Given the description of an element on the screen output the (x, y) to click on. 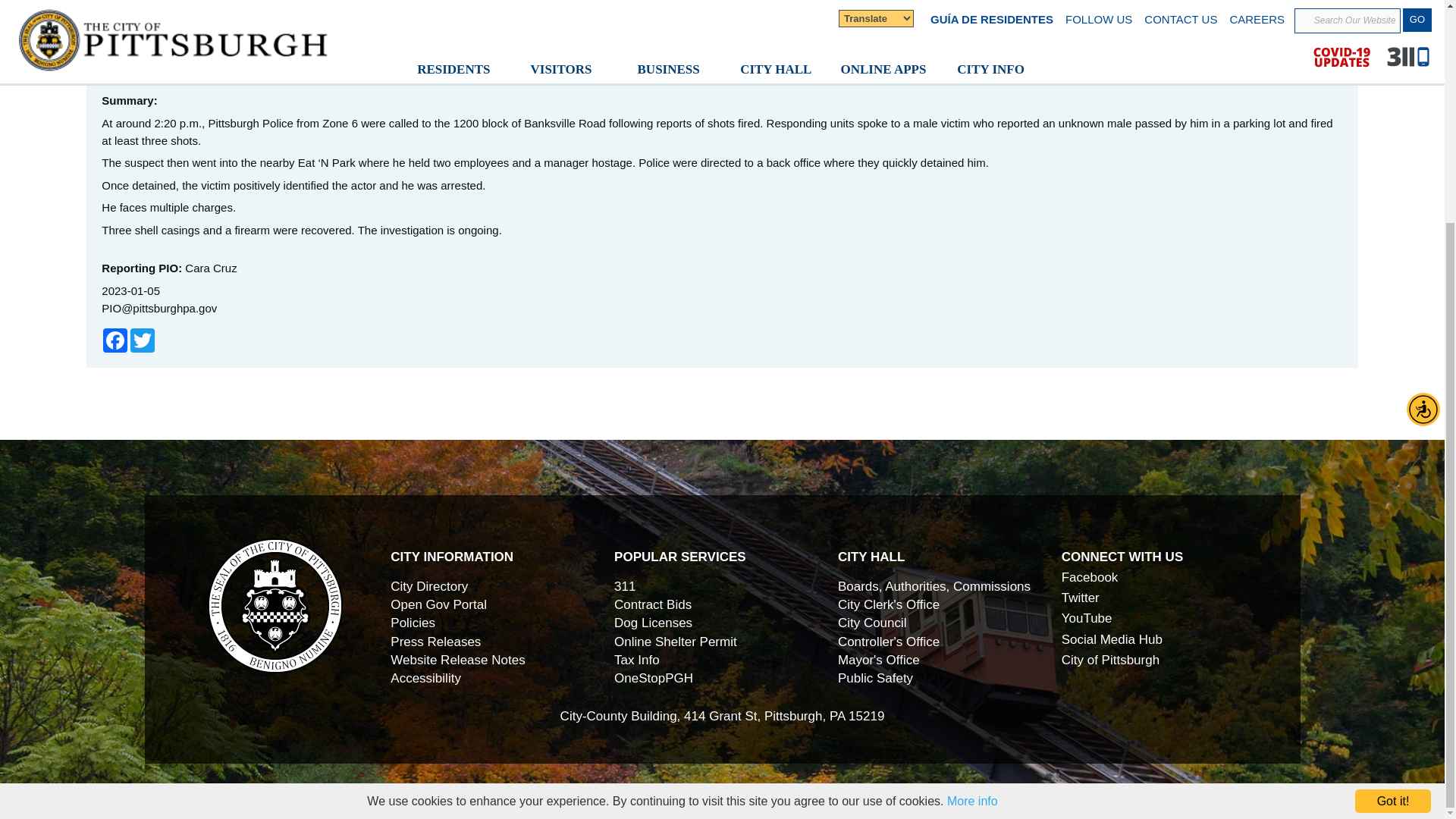
Accessibility Menu (1422, 112)
